Given the description of an element on the screen output the (x, y) to click on. 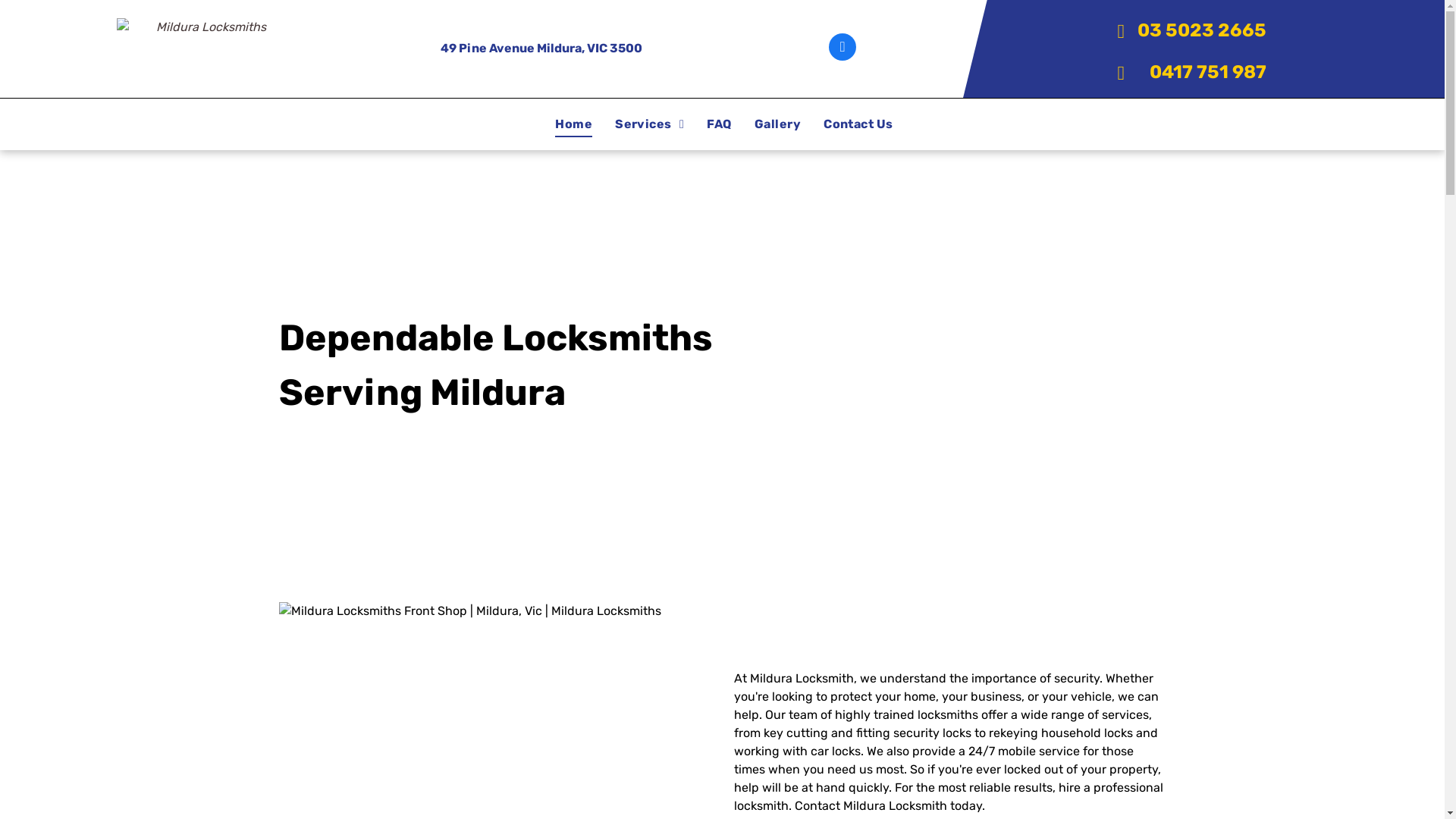
0417 751 987 Element type: text (1178, 71)
Gallery Element type: text (777, 124)
Home Element type: text (573, 124)
Mildura Locksmiths Element type: hover (204, 48)
Services Element type: text (649, 124)
Contact Us Element type: text (858, 124)
03 5023 2665 Element type: text (1178, 30)
FAQ Element type: text (718, 124)
49 Pine Avenue Mildura, VIC 3500 Element type: text (541, 47)
